Given the description of an element on the screen output the (x, y) to click on. 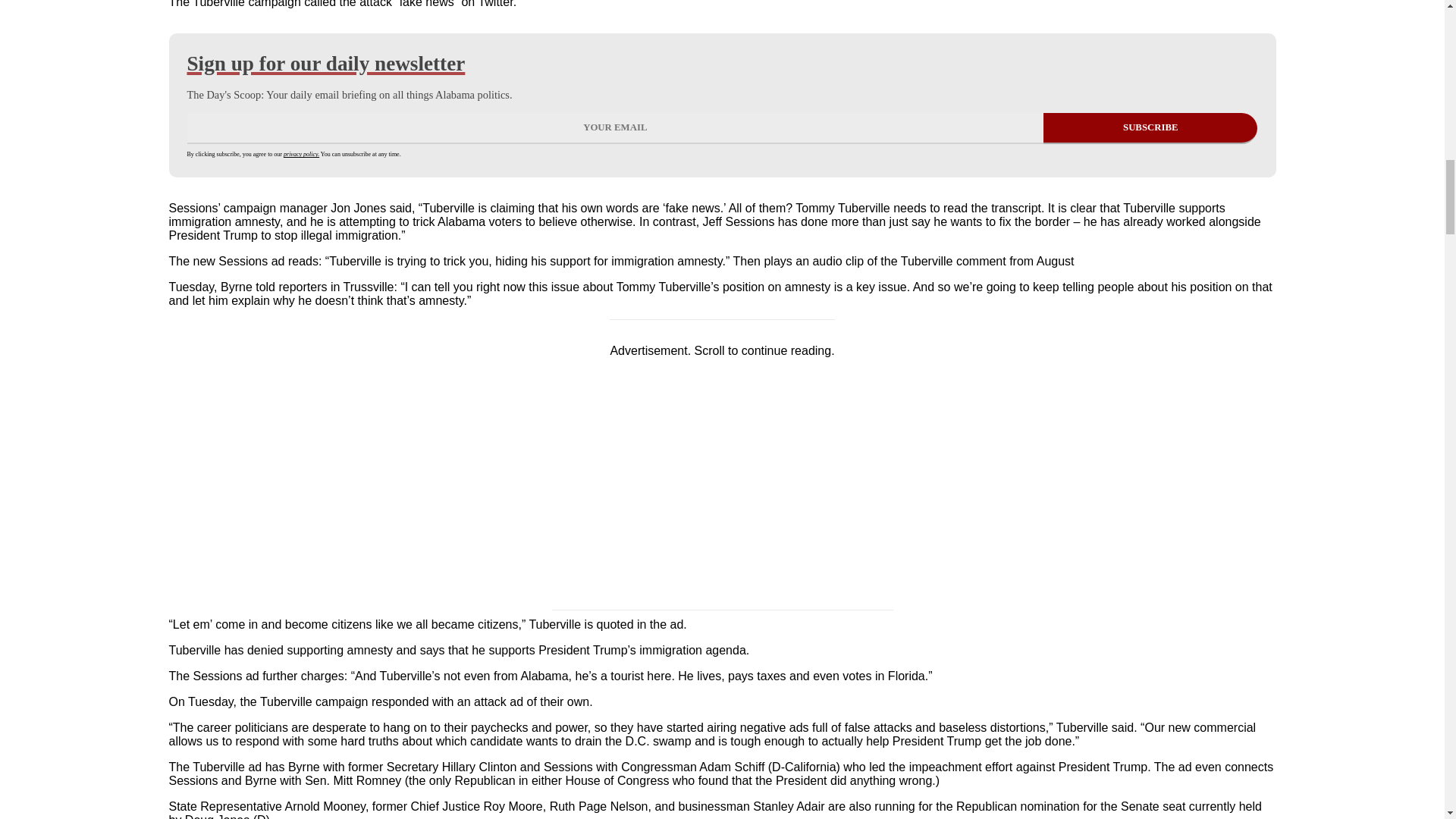
Subscribe (1150, 128)
